Given the description of an element on the screen output the (x, y) to click on. 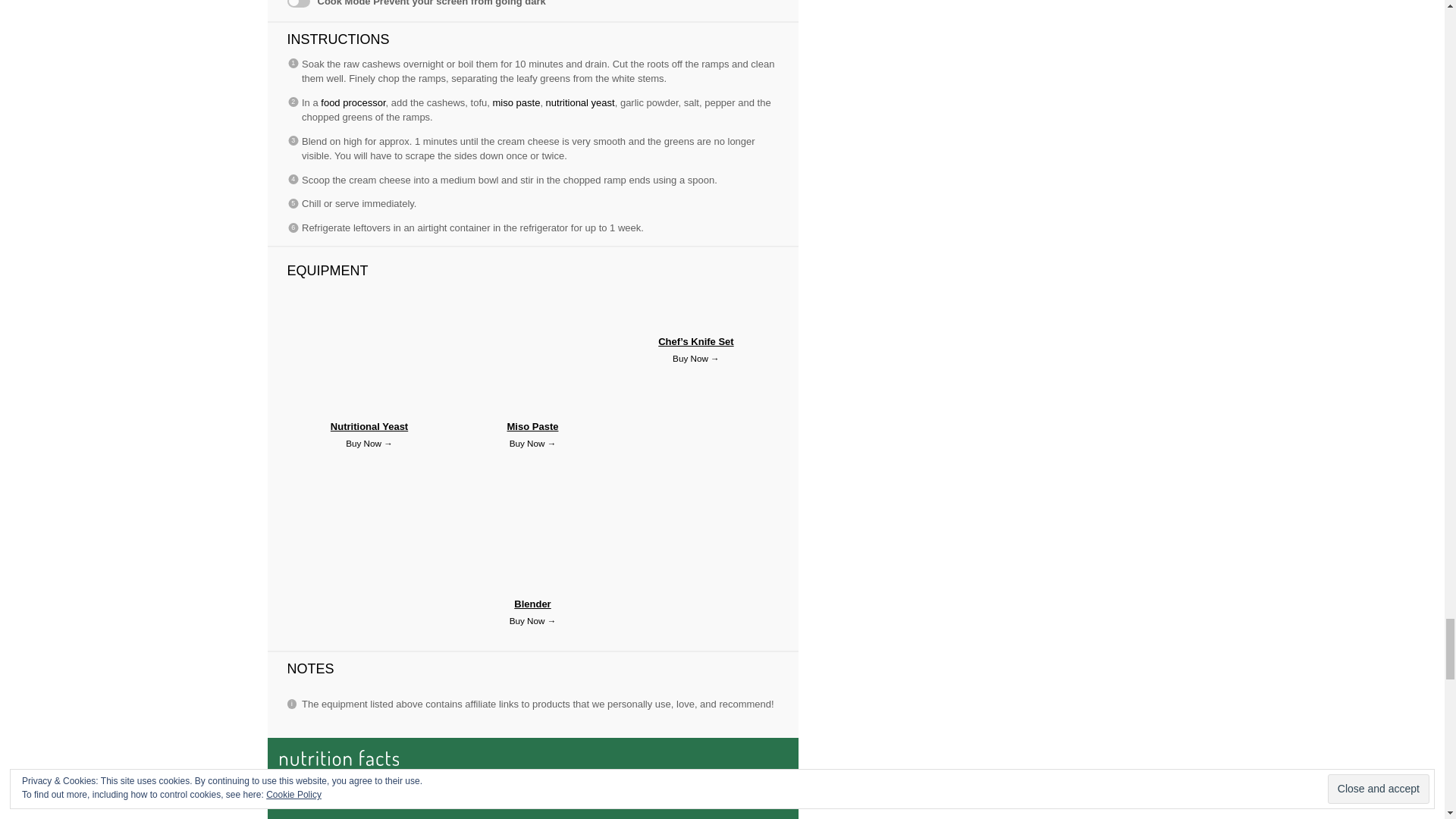
nutritional information (531, 778)
